Given the description of an element on the screen output the (x, y) to click on. 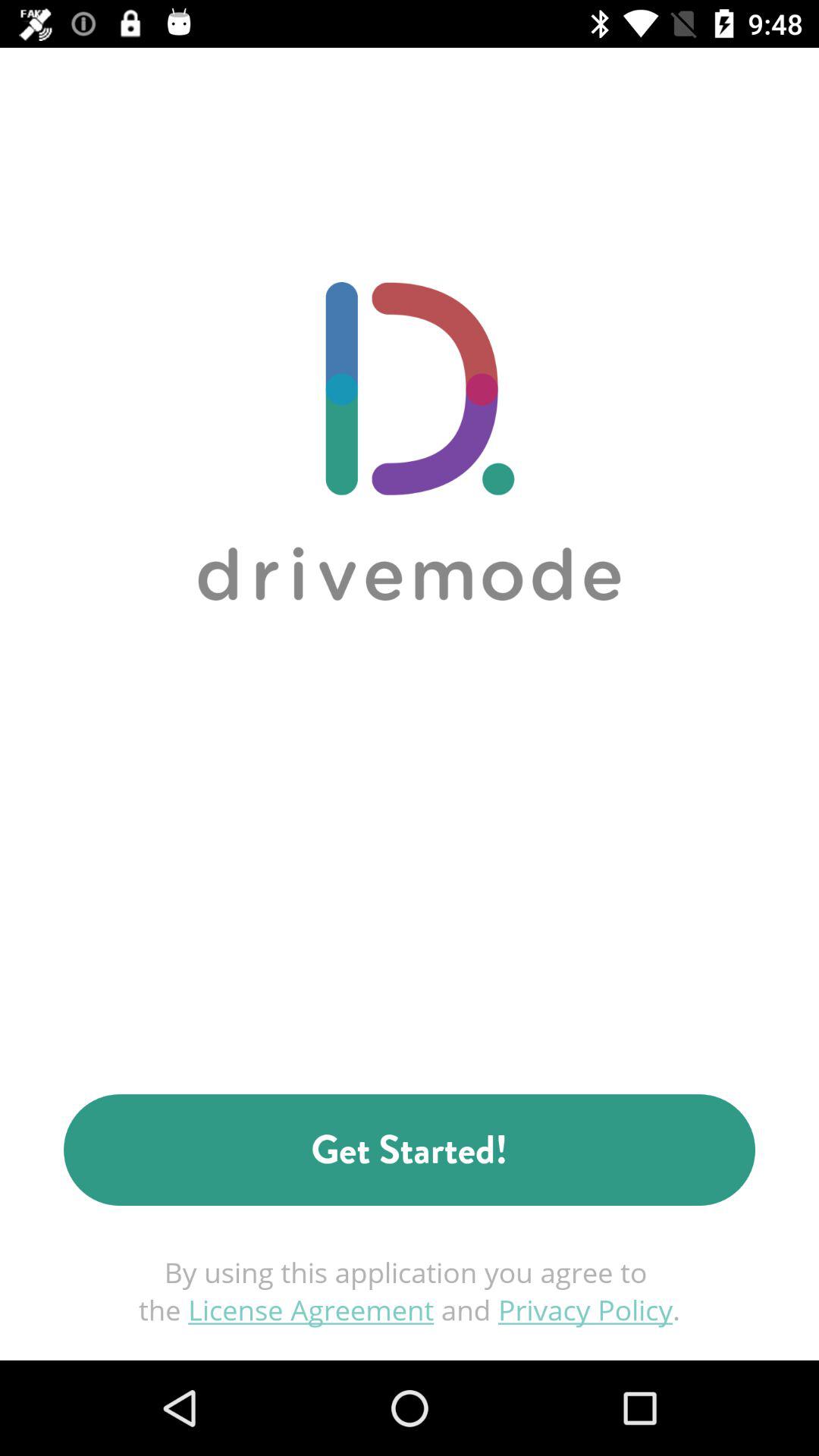
launch get started! item (409, 1149)
